Given the description of an element on the screen output the (x, y) to click on. 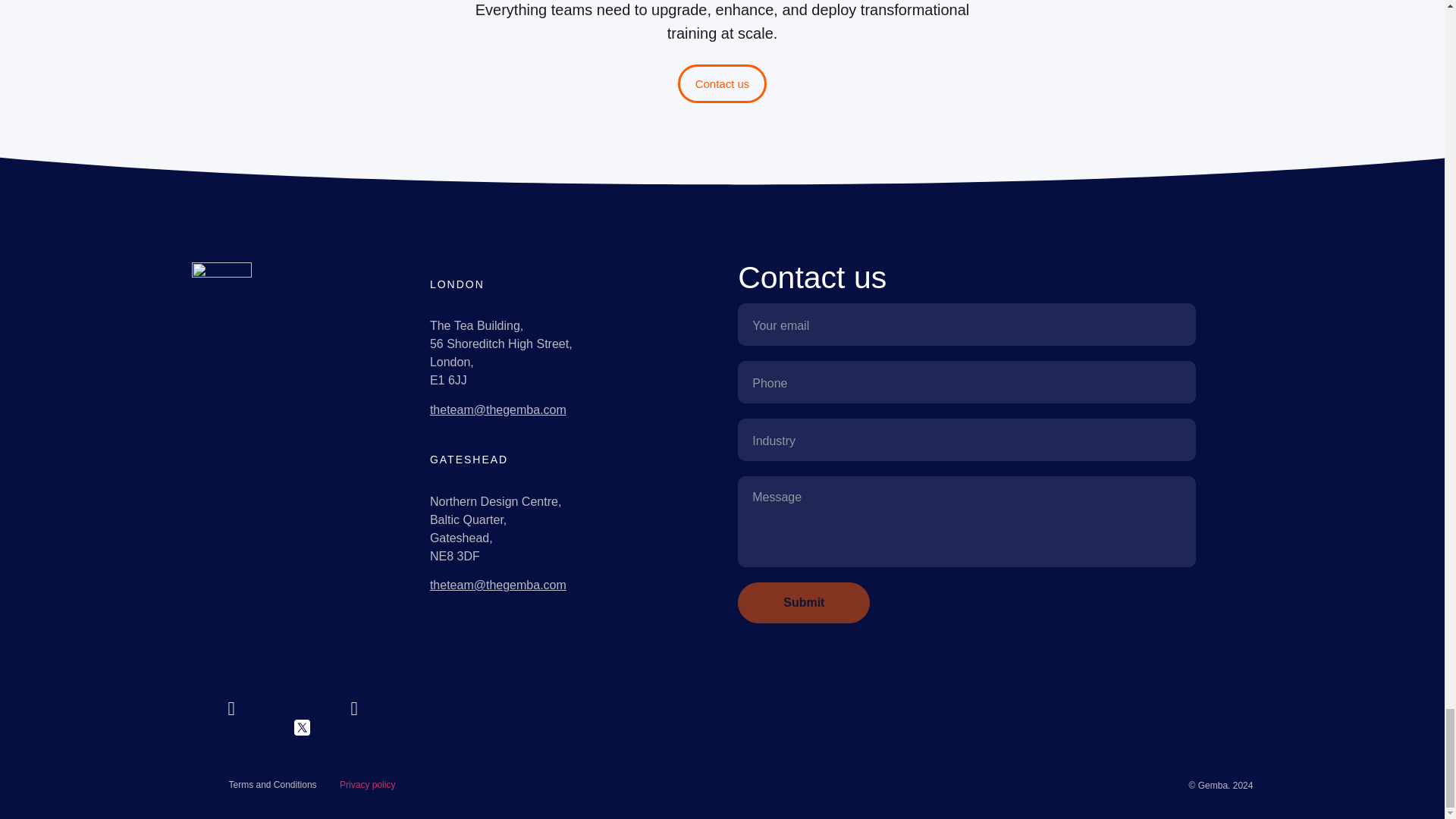
Contact us (966, 275)
Terms and Conditions (257, 790)
Privacy policy (387, 790)
GATESHEAD (519, 452)
Contact us (721, 83)
LONDON  (519, 289)
